Given the description of an element on the screen output the (x, y) to click on. 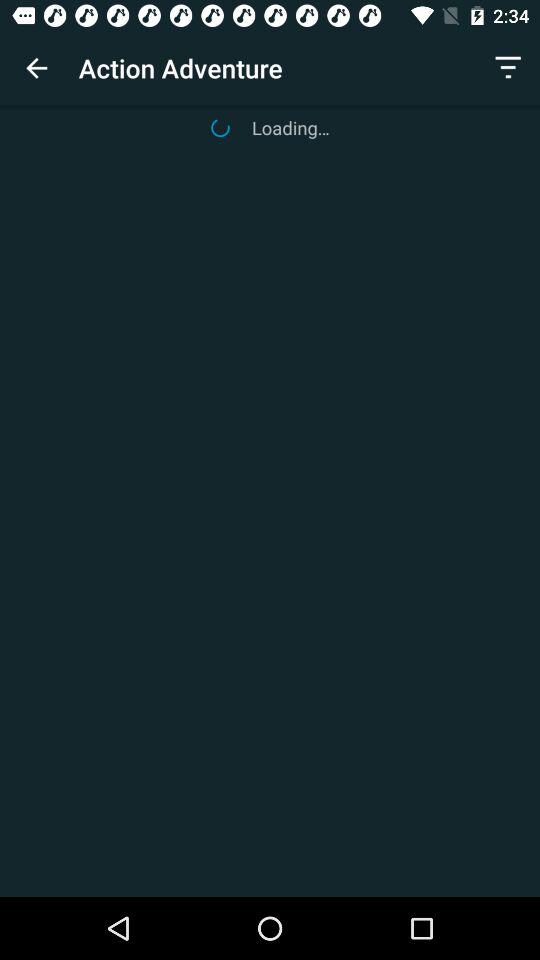
click the icon next to action adventure app (36, 68)
